Given the description of an element on the screen output the (x, y) to click on. 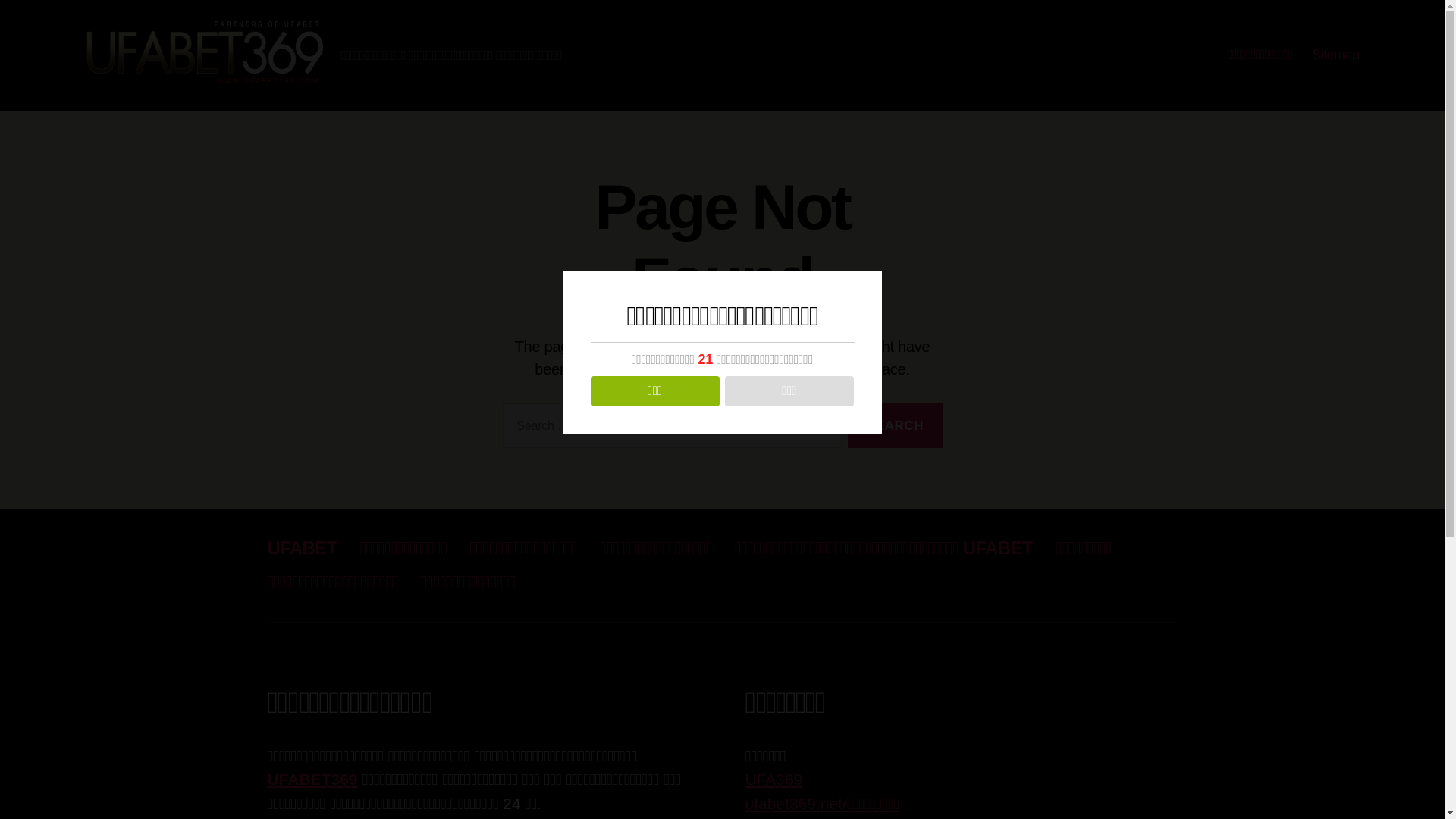
UFA369 Element type: text (773, 778)
Sitemap Element type: text (1335, 55)
Search Element type: text (894, 425)
UFABET369 Element type: text (311, 778)
UFABET Element type: text (301, 547)
